Given the description of an element on the screen output the (x, y) to click on. 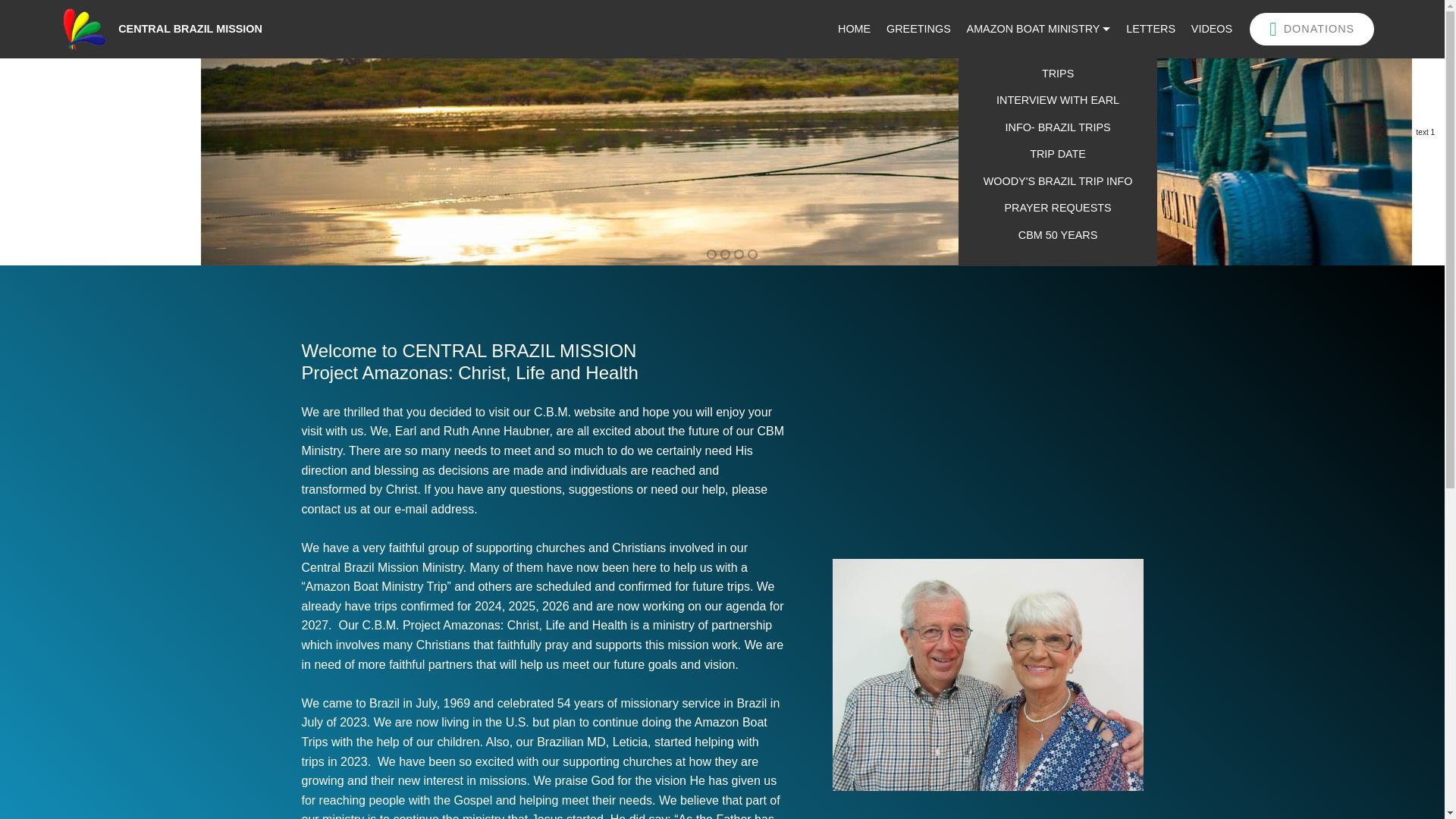
AMAZON BOAT MINISTRY (1038, 29)
CENTRAL BRAZIL MISSION (201, 29)
LETTERS (1149, 29)
TRIP DATE (1058, 154)
HOME (854, 29)
INFO- BRAZIL TRIPS (1058, 126)
INTERVIEW WITH EARL (1058, 100)
PRAYER REQUESTS (1058, 207)
WOODY'S BRAZIL TRIP INFO (1058, 181)
GREETINGS (918, 29)
CBM 50 YEARS (1058, 235)
VIDEOS (1211, 29)
TRIPS (1058, 72)
DONATIONS (1311, 29)
